Given the description of an element on the screen output the (x, y) to click on. 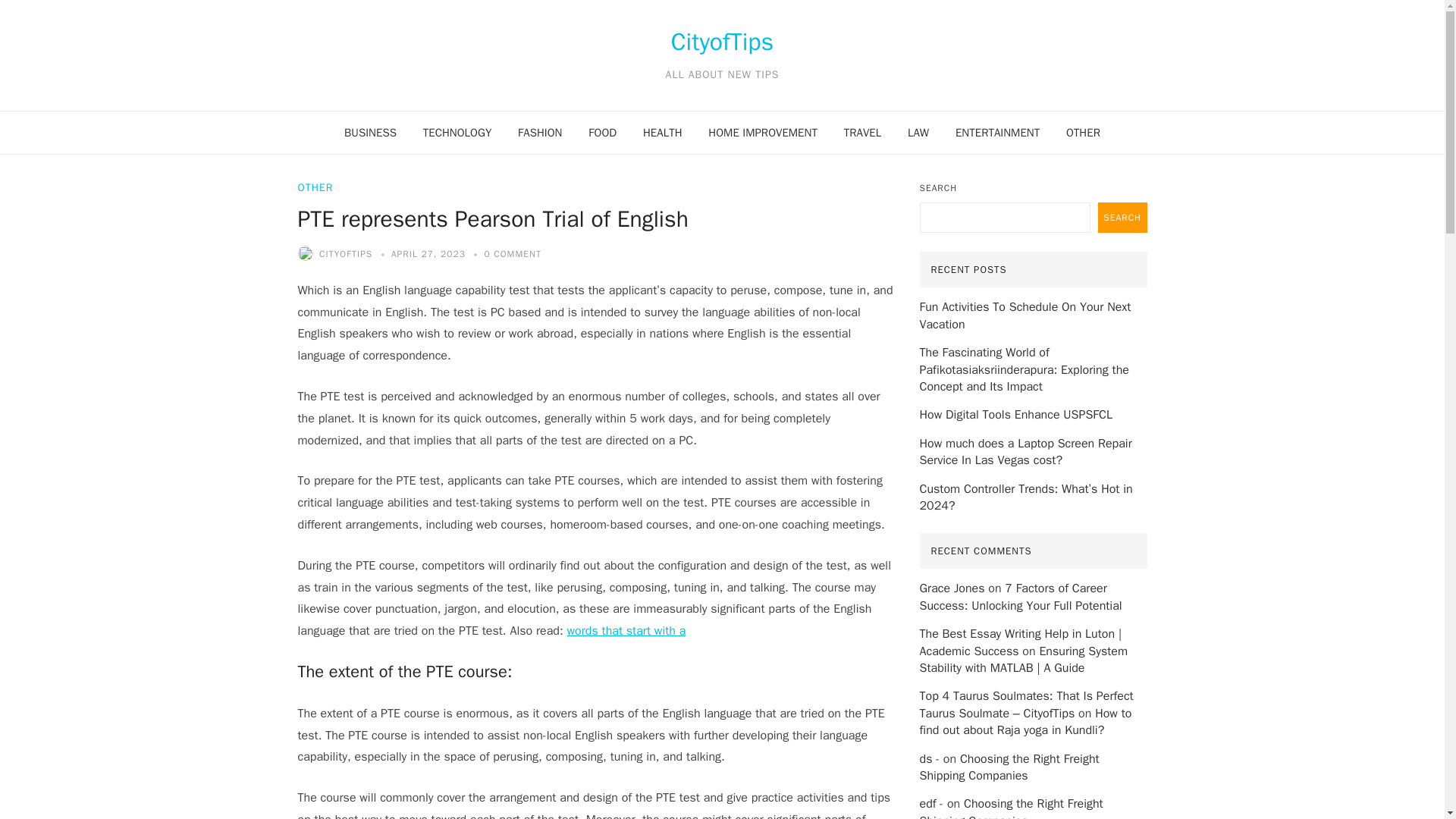
HEALTH (662, 132)
FOOD (601, 132)
0 COMMENT (511, 254)
CityofTips (721, 42)
LAW (918, 132)
BUSINESS (370, 132)
FASHION (539, 132)
OTHER (315, 187)
OTHER (1083, 132)
HOME IMPROVEMENT (762, 132)
